Given the description of an element on the screen output the (x, y) to click on. 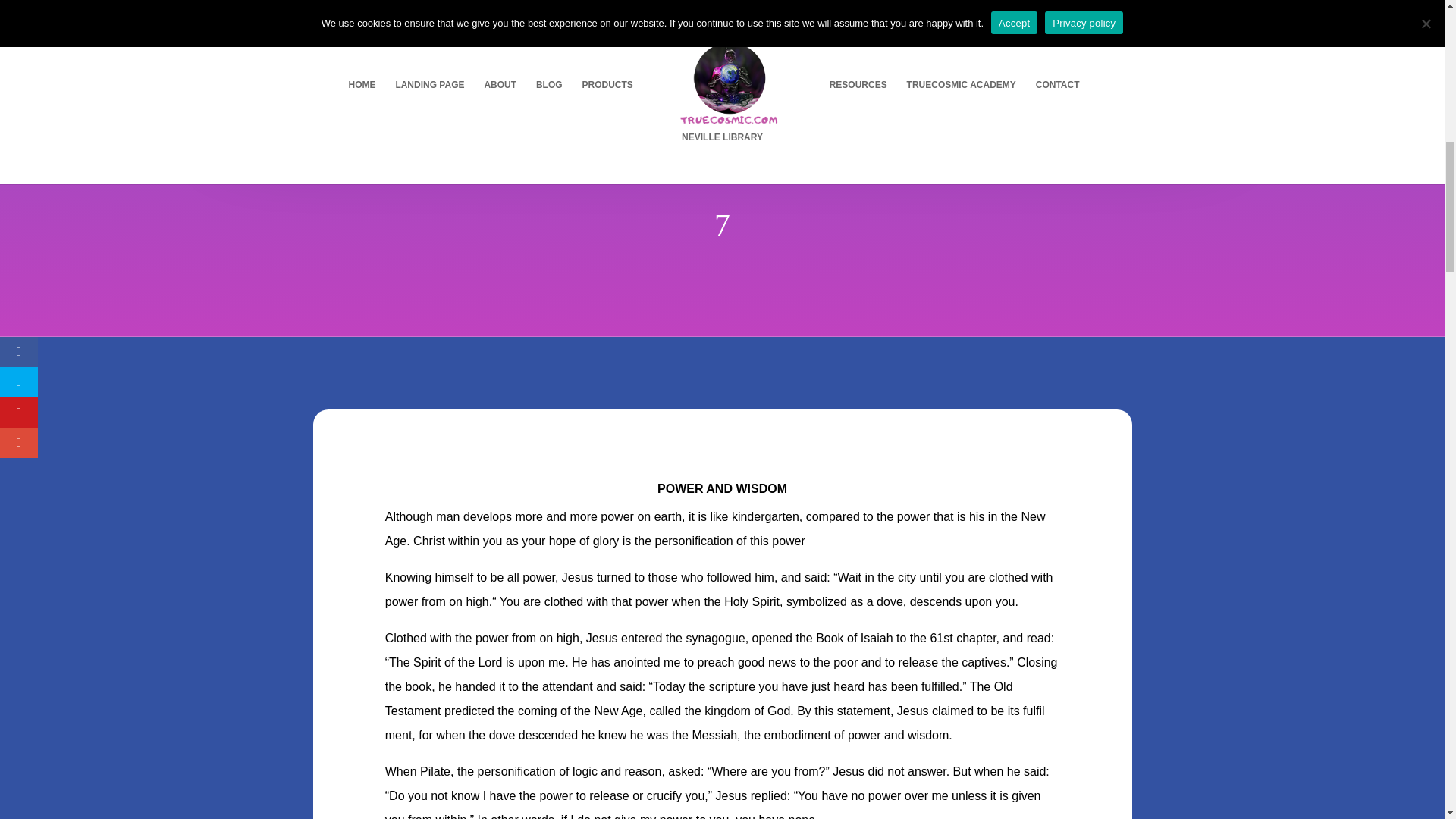
Power And Wisdom (455, 31)
